Given the description of an element on the screen output the (x, y) to click on. 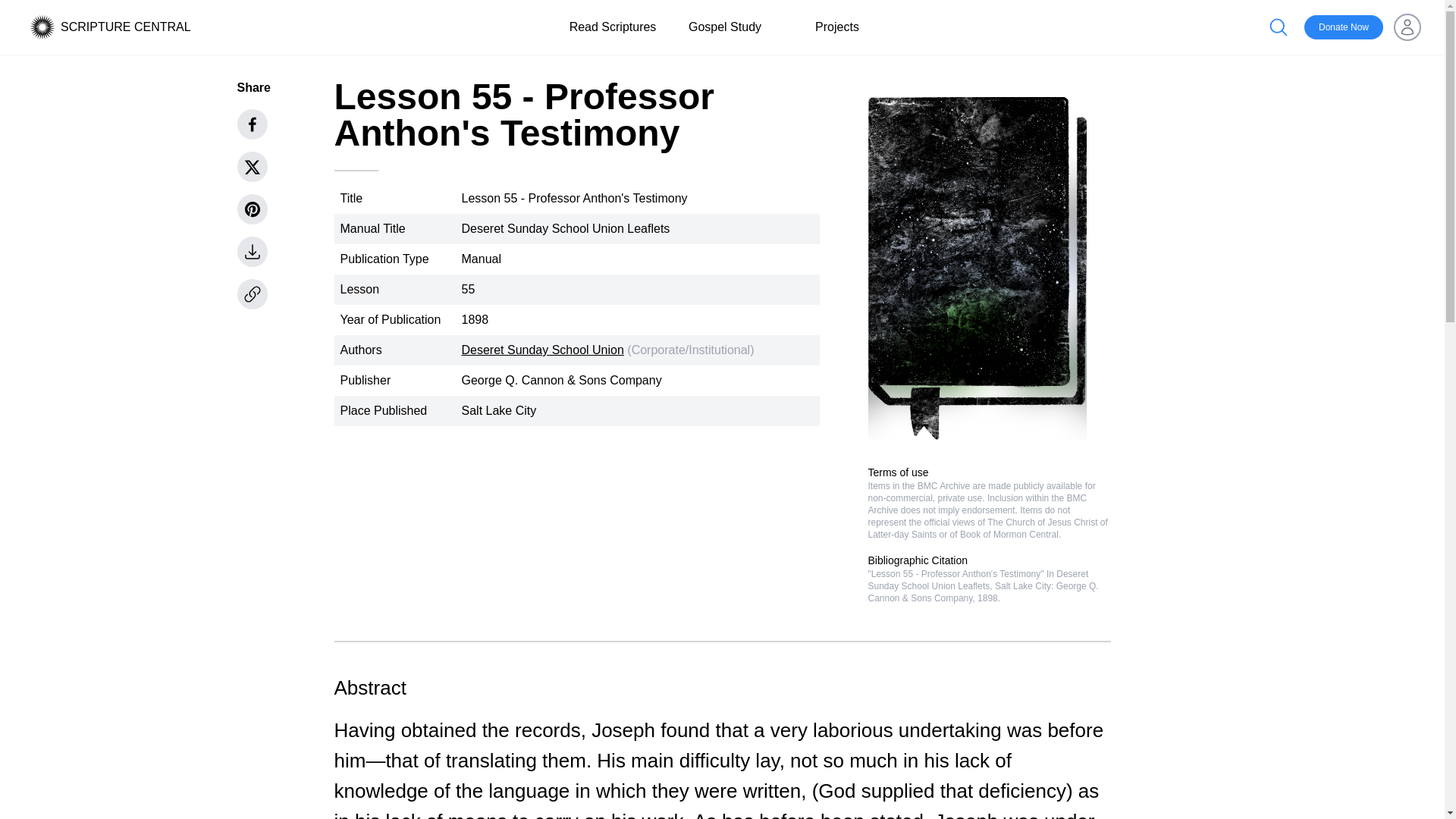
Projects (837, 26)
Gospel Study (724, 26)
Deseret Sunday School Union (542, 349)
Open user menu (1406, 27)
Read Scriptures (612, 26)
SCRIPTURE CENTRAL (125, 27)
Donate Now (1343, 27)
Read Scriptures (612, 27)
Gospel Study (724, 27)
